Given the description of an element on the screen output the (x, y) to click on. 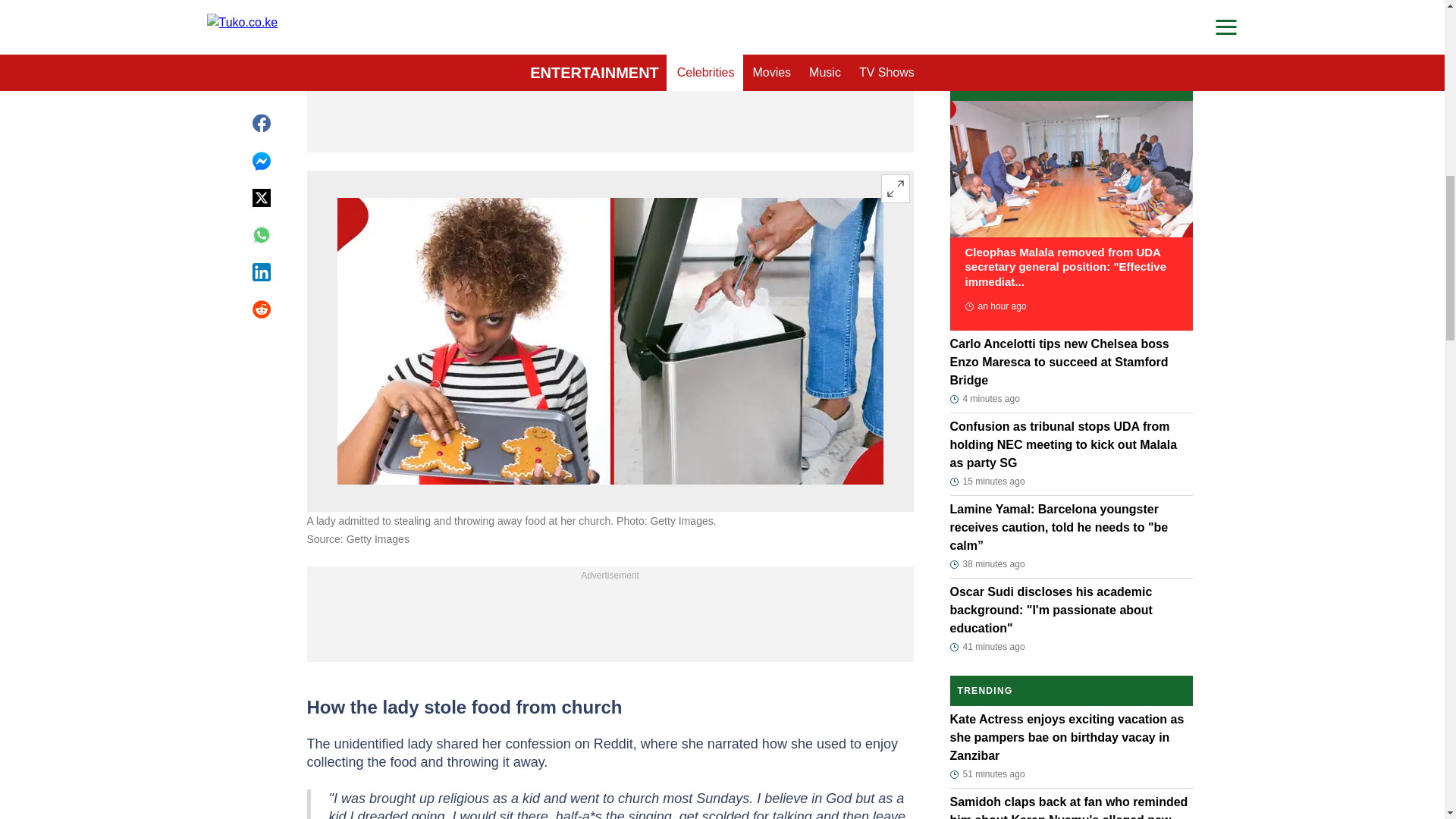
Expand image (895, 188)
